Given the description of an element on the screen output the (x, y) to click on. 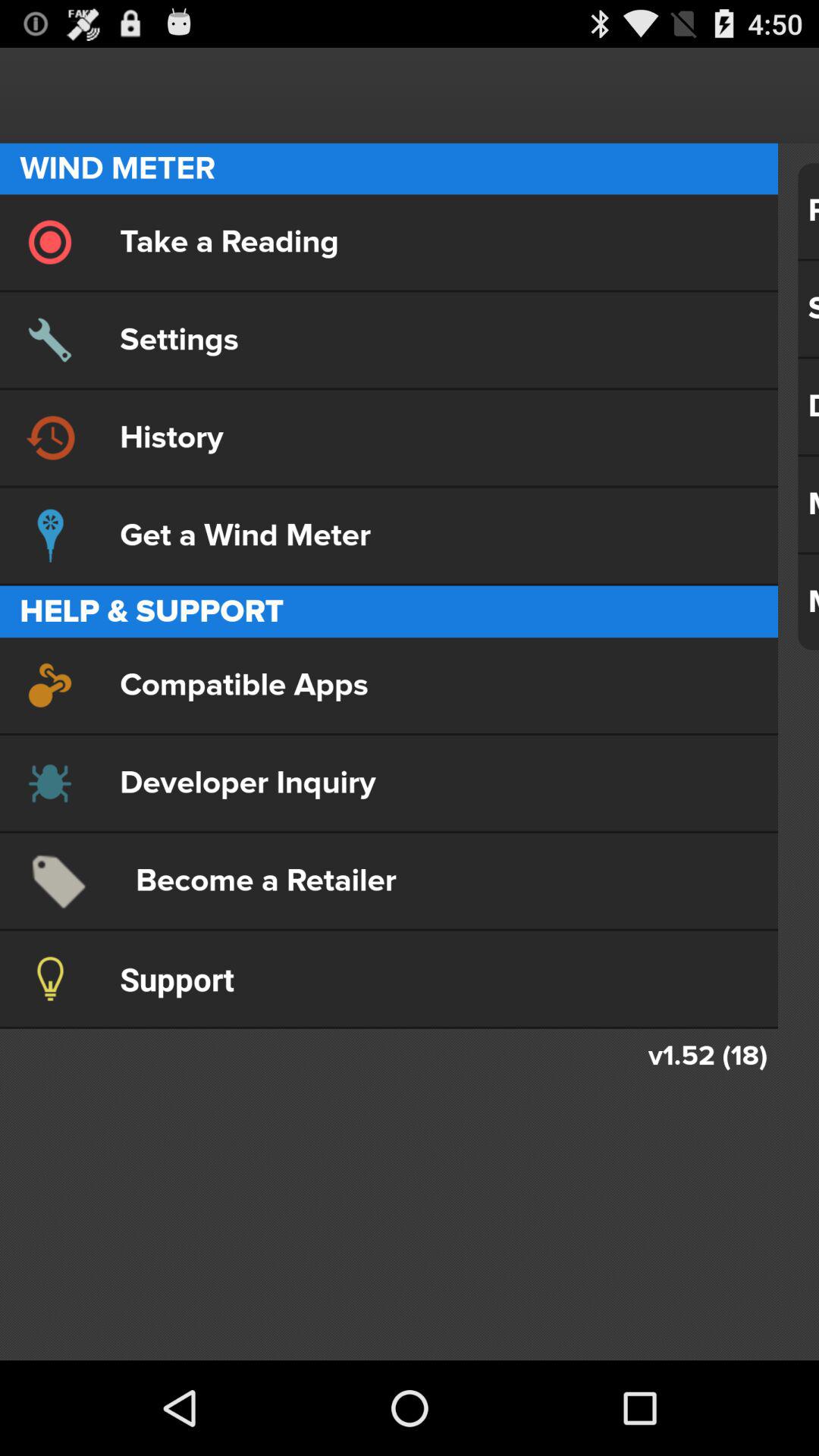
open settings icon (389, 339)
